Given the description of an element on the screen output the (x, y) to click on. 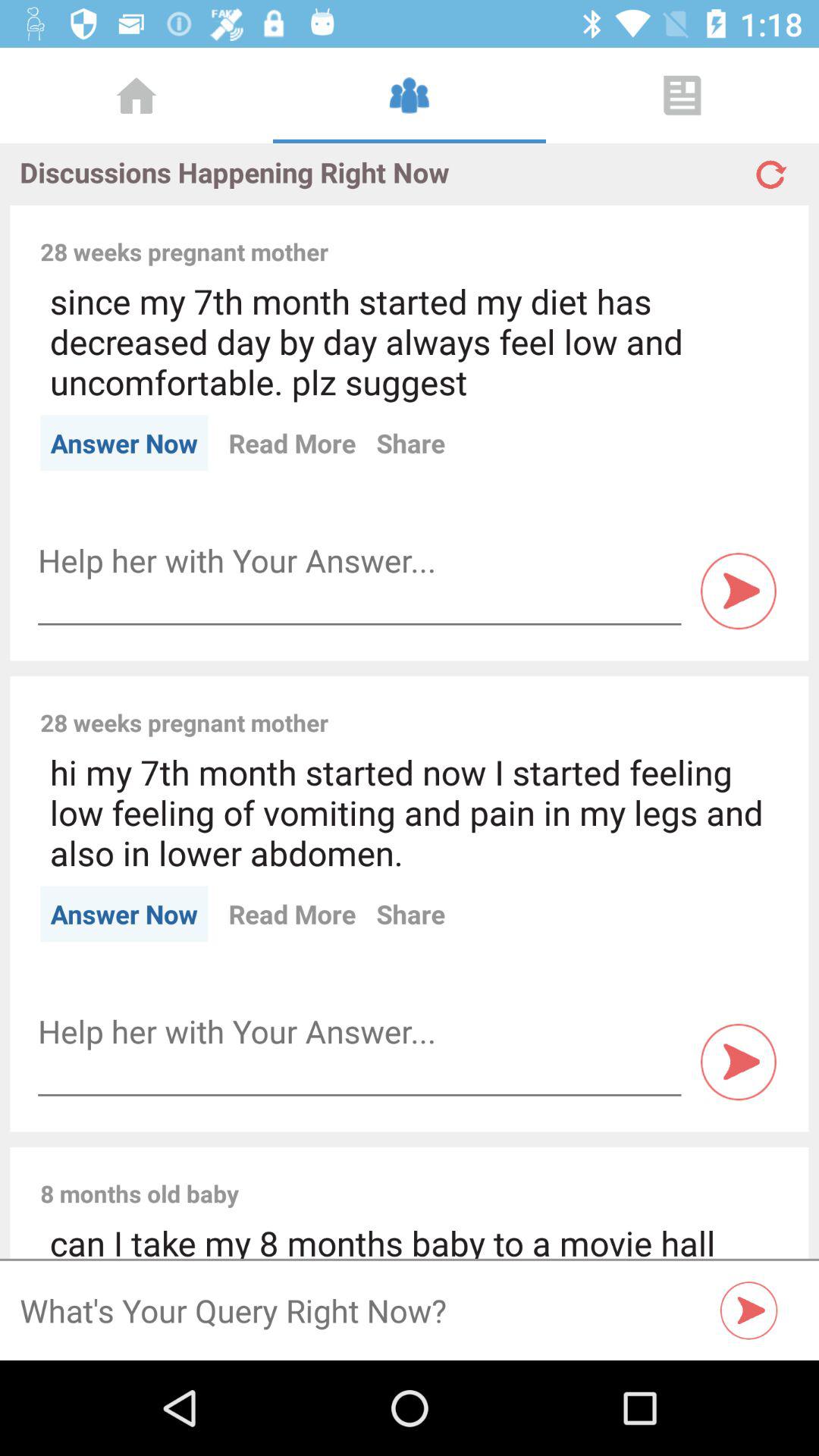
click the item below the discussions happening right (563, 235)
